Given the description of an element on the screen output the (x, y) to click on. 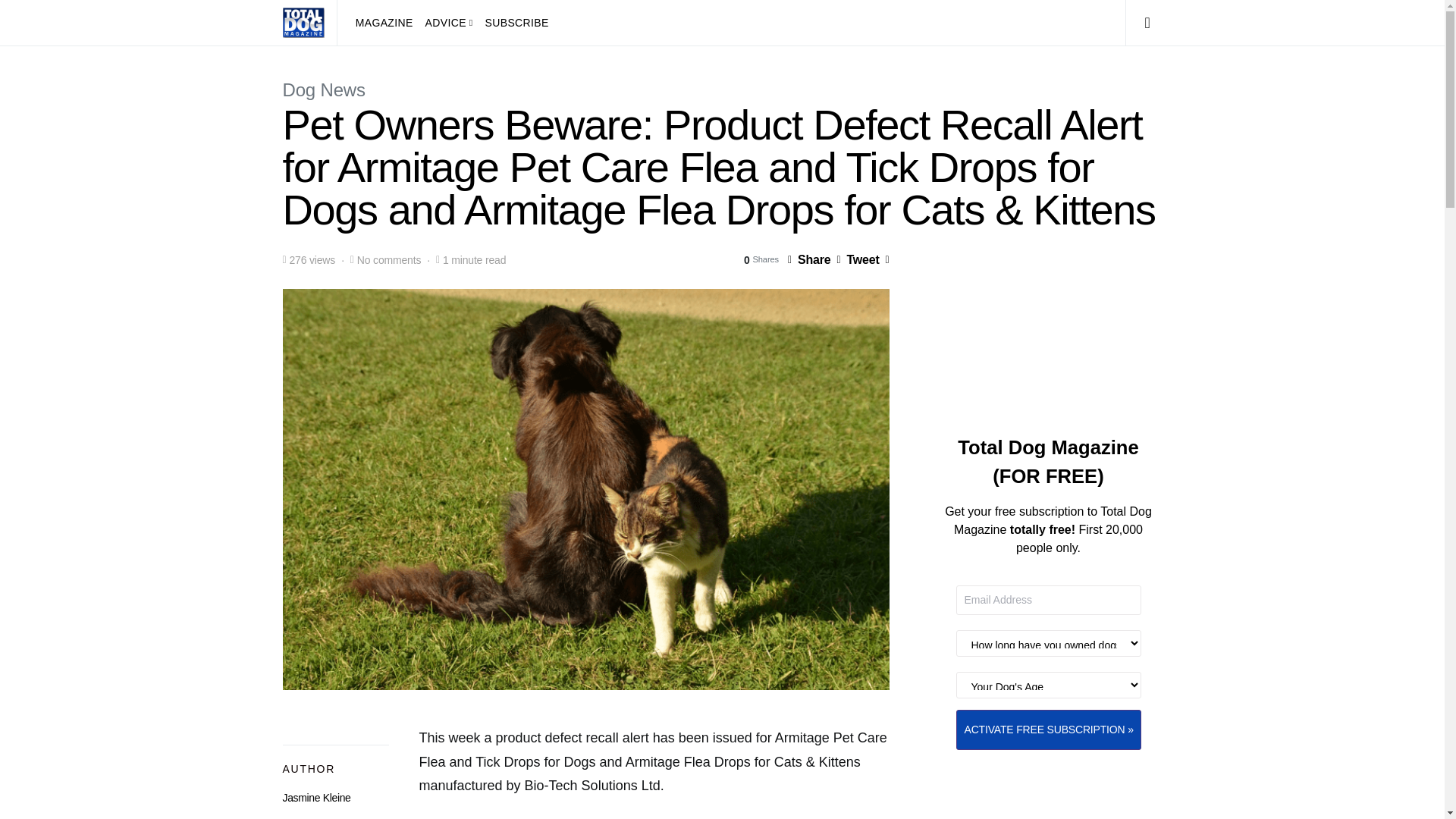
Jasmine Kleine (316, 797)
Subscribe to Total Dog Magazine for FREE (513, 22)
No comments (388, 259)
SUBSCRIBE (513, 22)
Dog Advice (449, 22)
Tweet (857, 259)
Dog Magazine (387, 22)
ADVICE (449, 22)
Dog News (323, 89)
MAGAZINE (387, 22)
Share (808, 259)
